Given the description of an element on the screen output the (x, y) to click on. 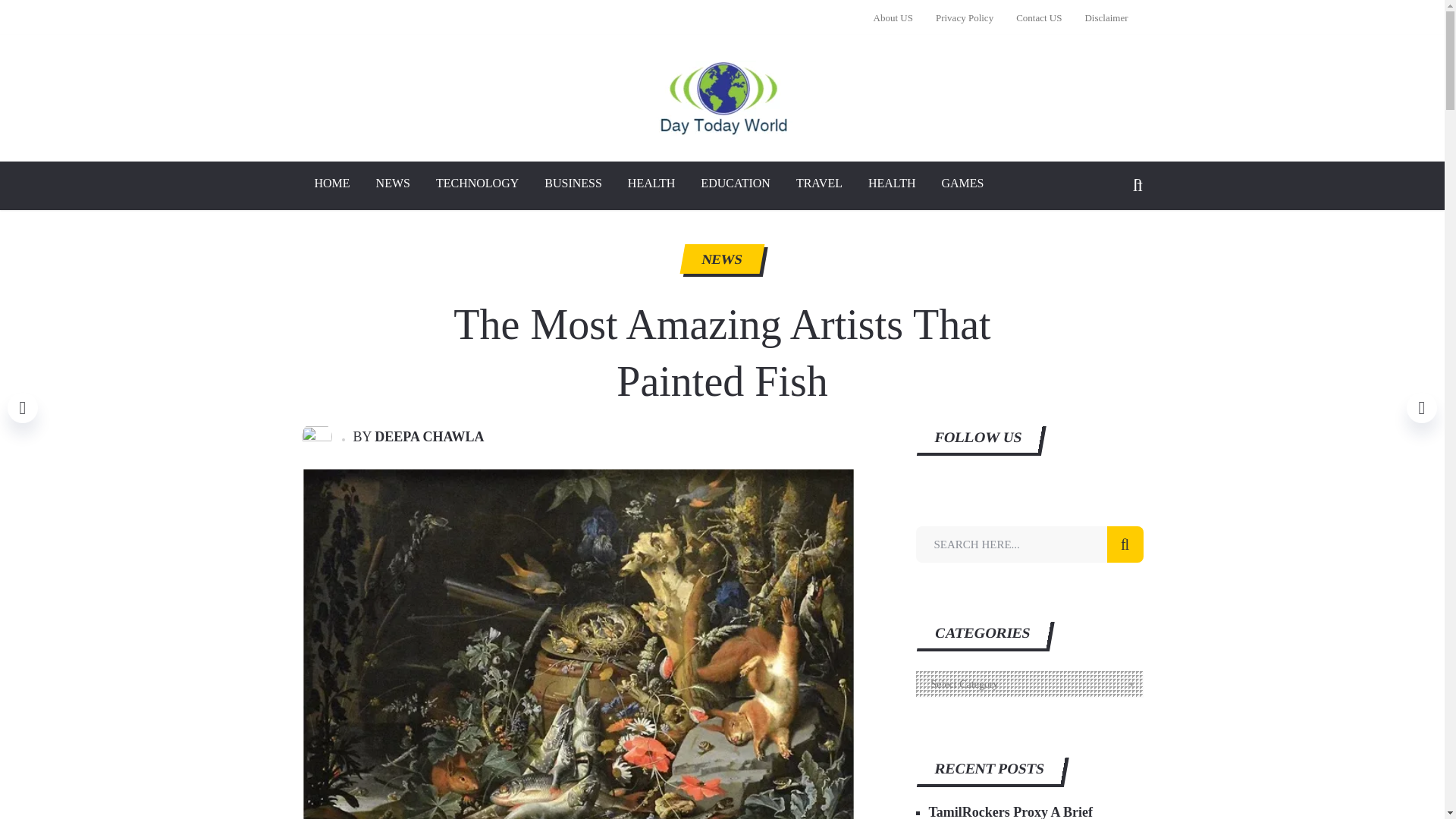
Privacy Policy (964, 17)
TRAVEL (819, 185)
Posts by Deepa Chawla (428, 436)
GAMES (961, 185)
Contact US (1038, 17)
About US (898, 17)
EDUCATION (735, 185)
NEWS (720, 258)
Disclaimer (1099, 17)
BUSINESS (572, 185)
HOME (331, 185)
DEEPA CHAWLA (428, 436)
HEALTH (892, 185)
View all posts in News (720, 258)
